Given the description of an element on the screen output the (x, y) to click on. 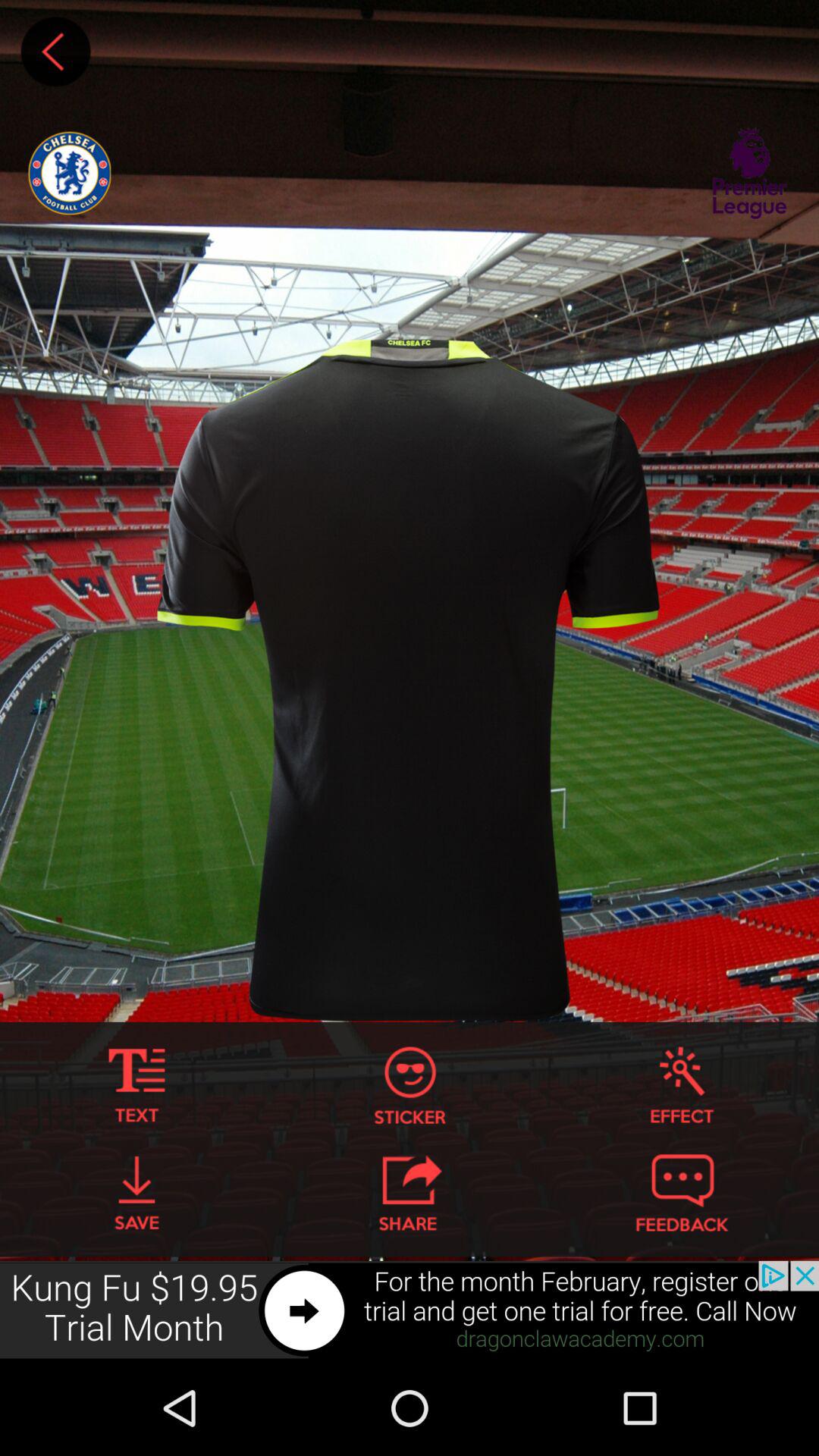
go to sticker (409, 1085)
